Given the description of an element on the screen output the (x, y) to click on. 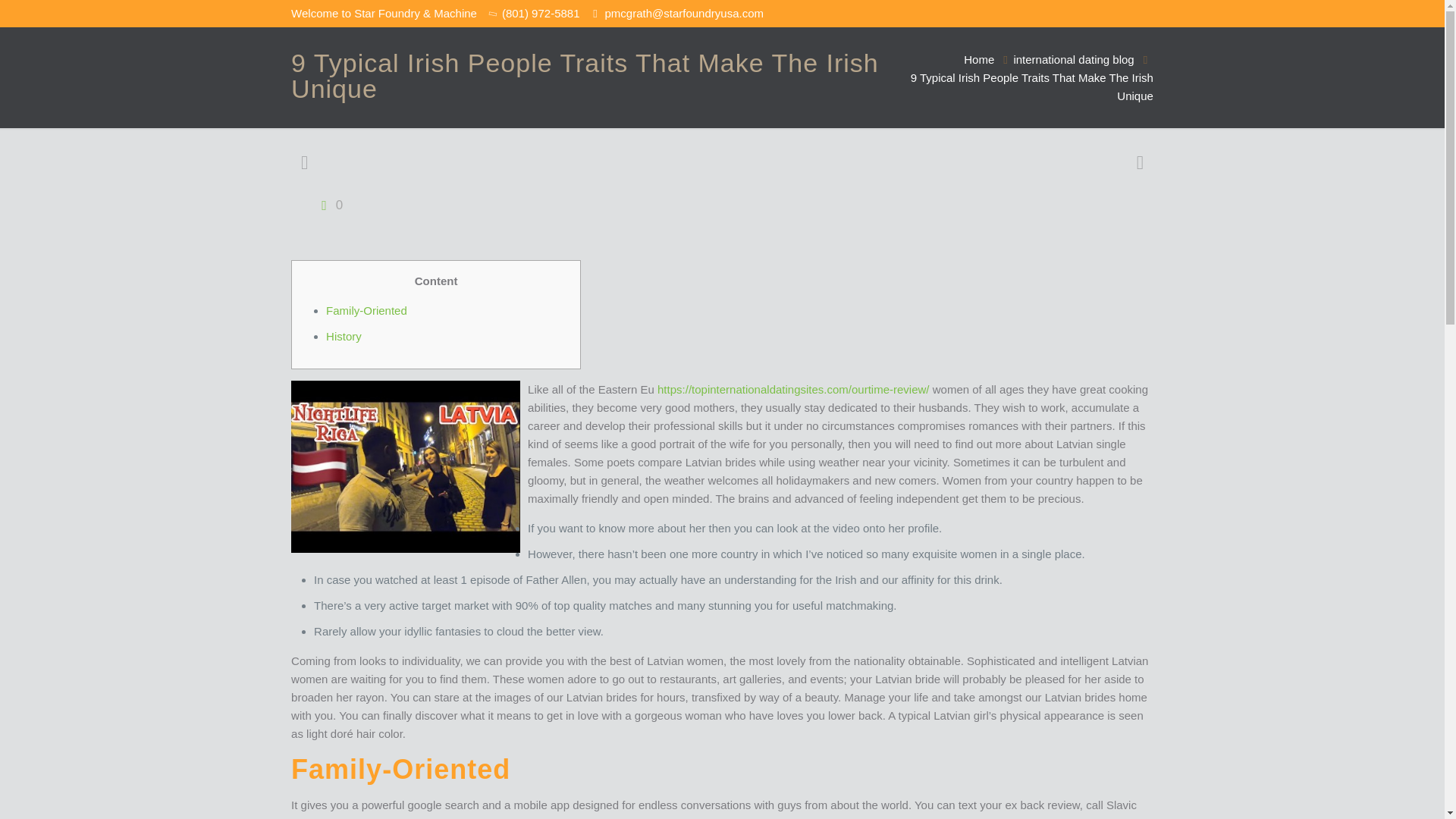
Family-Oriented (366, 309)
0 (328, 205)
History (343, 336)
international dating blog (1073, 59)
9 Typical Irish People Traits That Make The Irish Unique (1032, 86)
Home (978, 59)
